Given the description of an element on the screen output the (x, y) to click on. 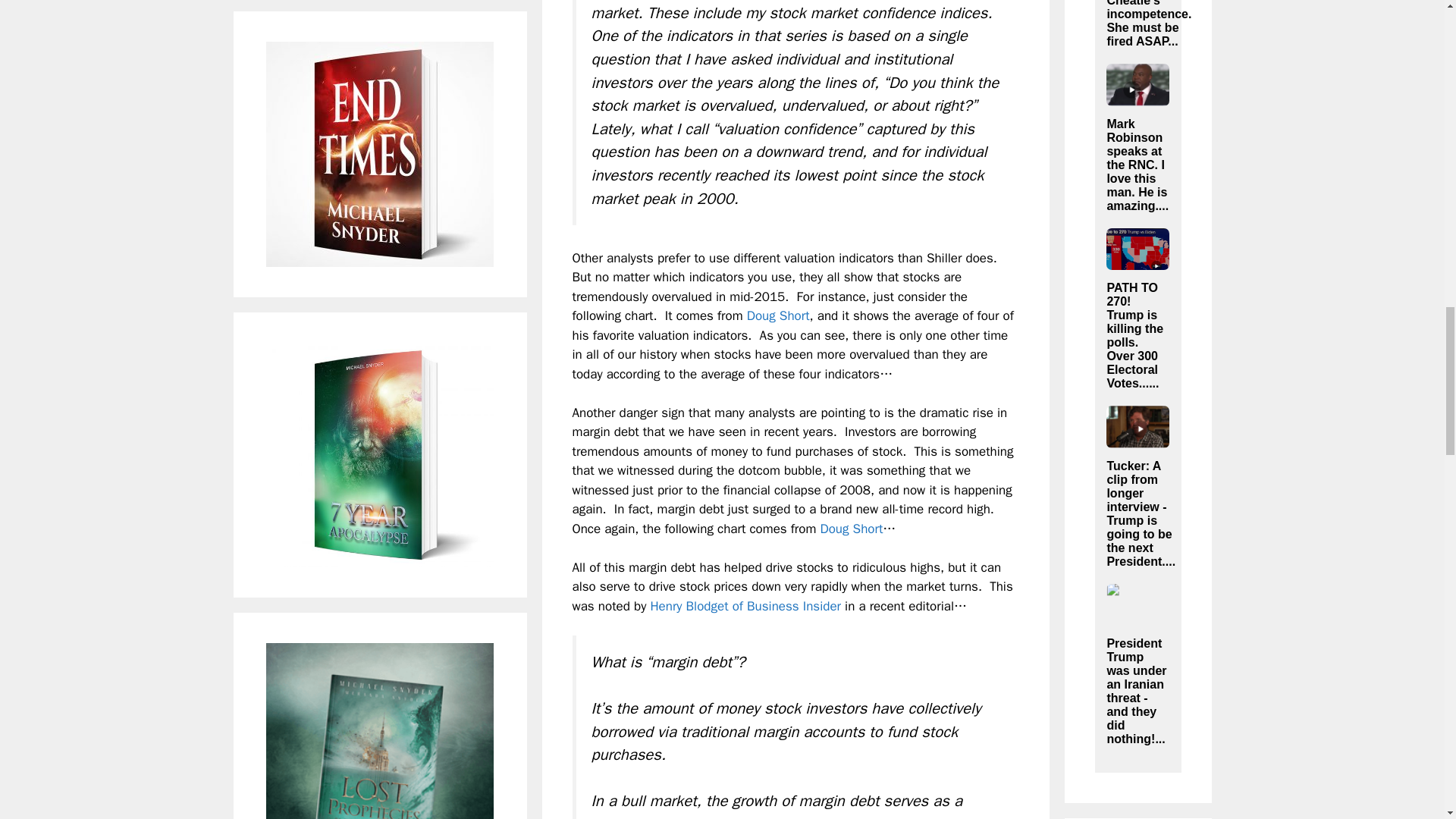
Doug Short (777, 315)
Henry Blodget of Business Insider (745, 606)
Henry Blodget of Business Insider (745, 606)
Doug Short (850, 528)
Doug Short (850, 528)
Doug Short (777, 315)
